Given the description of an element on the screen output the (x, y) to click on. 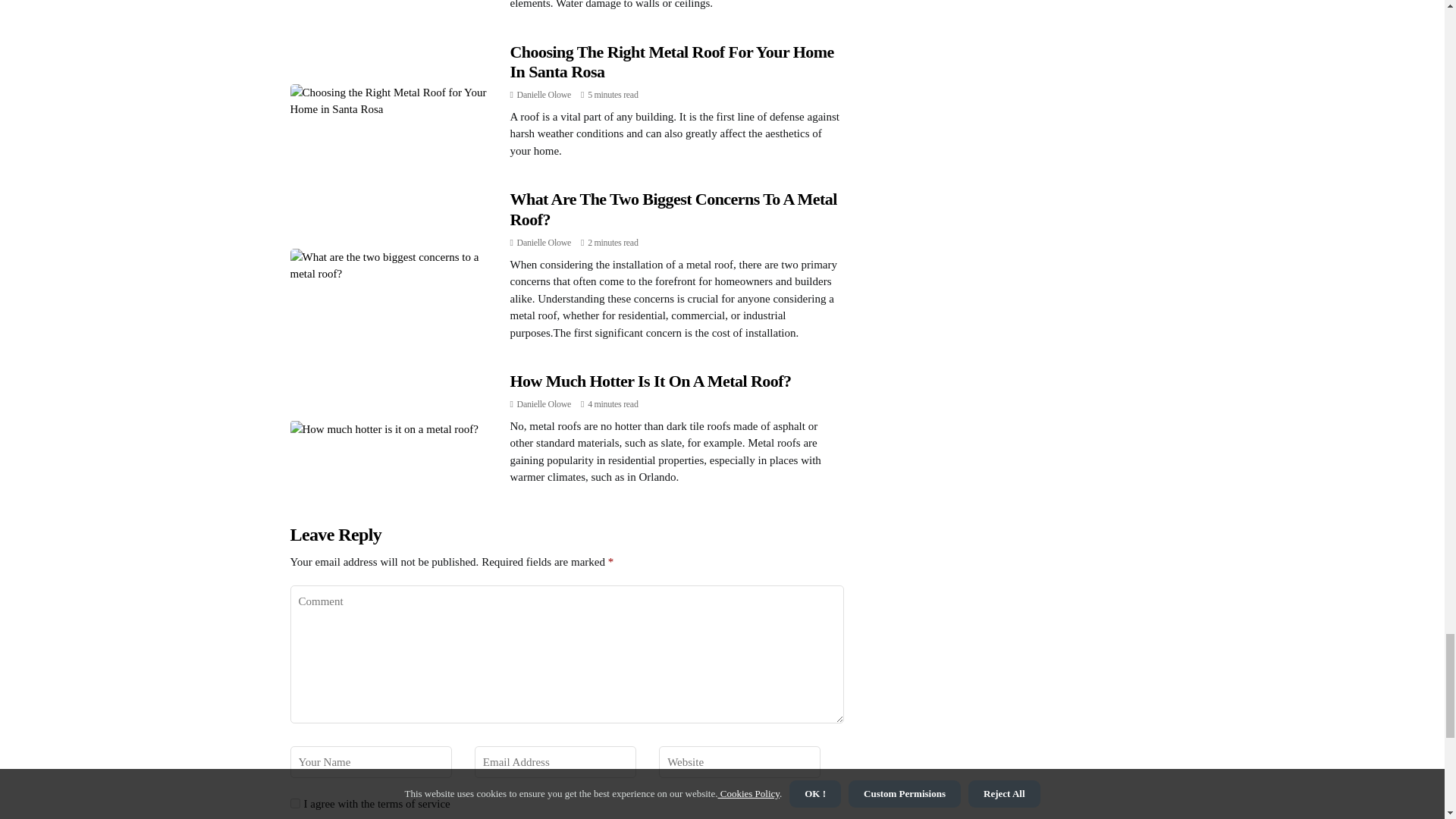
Danielle Olowe (543, 94)
yes (294, 803)
How Much Hotter Is It On A Metal Roof? (649, 380)
Danielle Olowe (543, 403)
Posts by Danielle Olowe (543, 94)
Posts by Danielle Olowe (543, 403)
What Are The Two Biggest Concerns To A Metal Roof? (672, 208)
Danielle Olowe (543, 242)
Choosing The Right Metal Roof For Your Home In Santa Rosa (670, 61)
Posts by Danielle Olowe (543, 242)
